Given the description of an element on the screen output the (x, y) to click on. 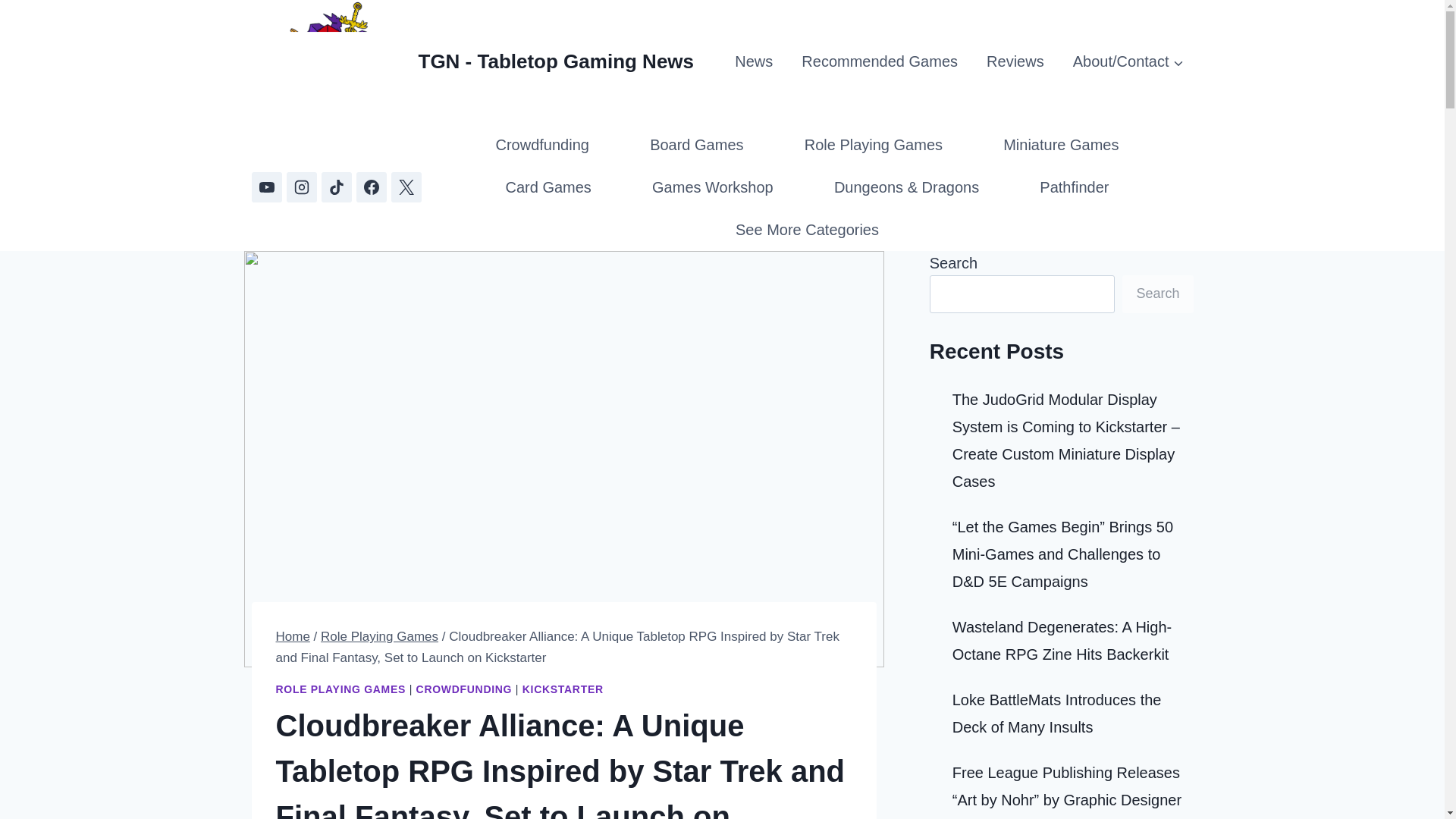
Card Games (547, 187)
Home (293, 636)
Crowdfunding (542, 144)
News (753, 61)
Board Games (697, 144)
Reviews (1014, 61)
ROLE PLAYING GAMES (341, 689)
Role Playing Games (379, 636)
Pathfinder (1073, 187)
TGN - Tabletop Gaming News (472, 61)
KICKSTARTER (563, 689)
Games Workshop (712, 187)
Miniature Games (1060, 144)
Role Playing Games (874, 144)
Recommended Games (879, 61)
